Given the description of an element on the screen output the (x, y) to click on. 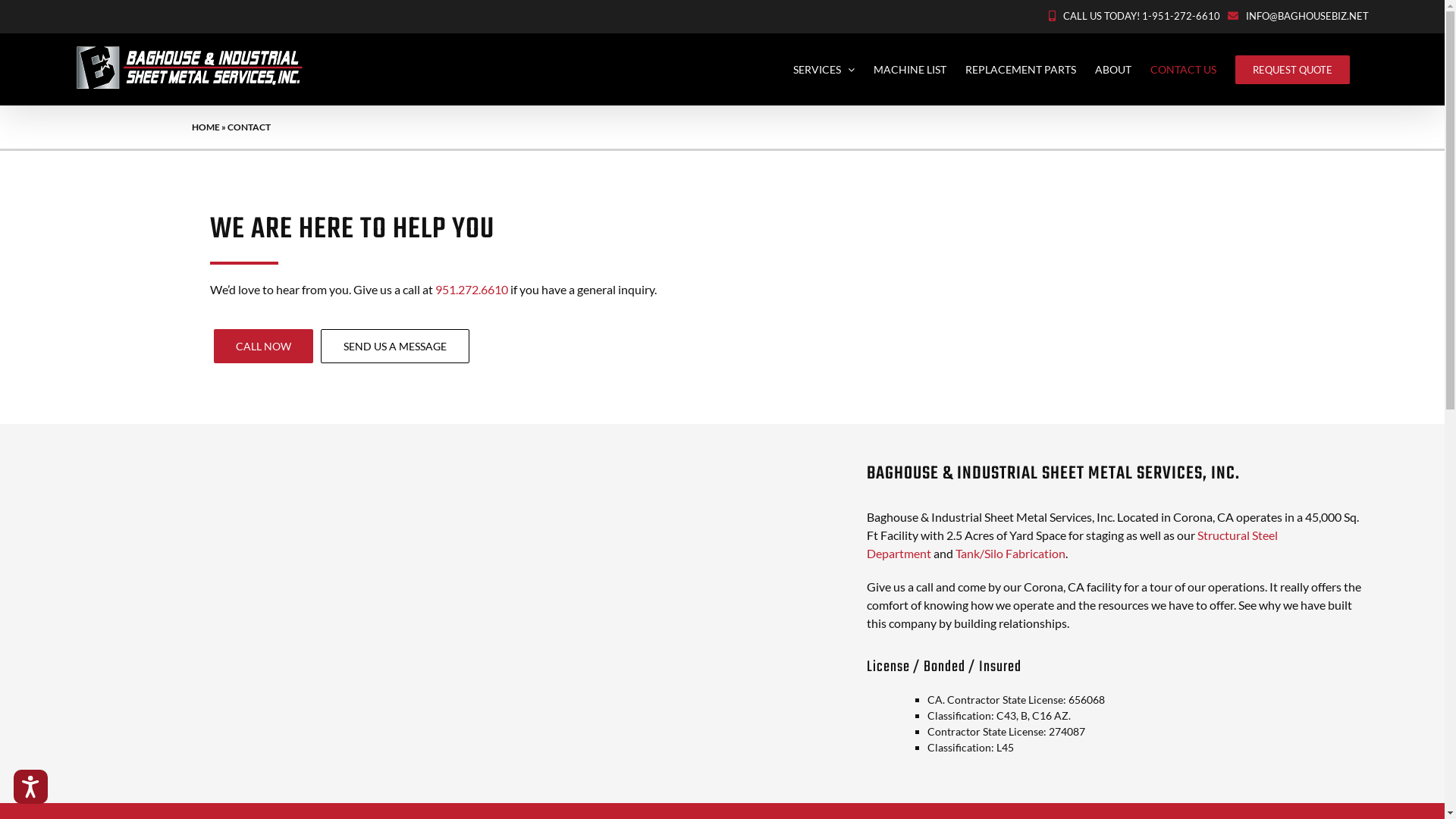
INFO@BAGHOUSEBIZ.NET Element type: text (1306, 15)
SERVICES Element type: text (823, 69)
REPLACEMENT PARTS Element type: text (1020, 69)
ABOUT Element type: text (1113, 69)
MACHINE LIST Element type: text (909, 69)
Structural Steel Department Element type: text (1071, 543)
Tank/Silo Fabrication Element type: text (1010, 553)
REQUEST QUOTE Element type: text (1292, 69)
CONTACT US Element type: text (1183, 69)
CALL NOW Element type: text (263, 346)
SEND US A MESSAGE Element type: text (394, 346)
HOME Element type: text (205, 126)
951.272.6610 Element type: text (471, 289)
